Given the description of an element on the screen output the (x, y) to click on. 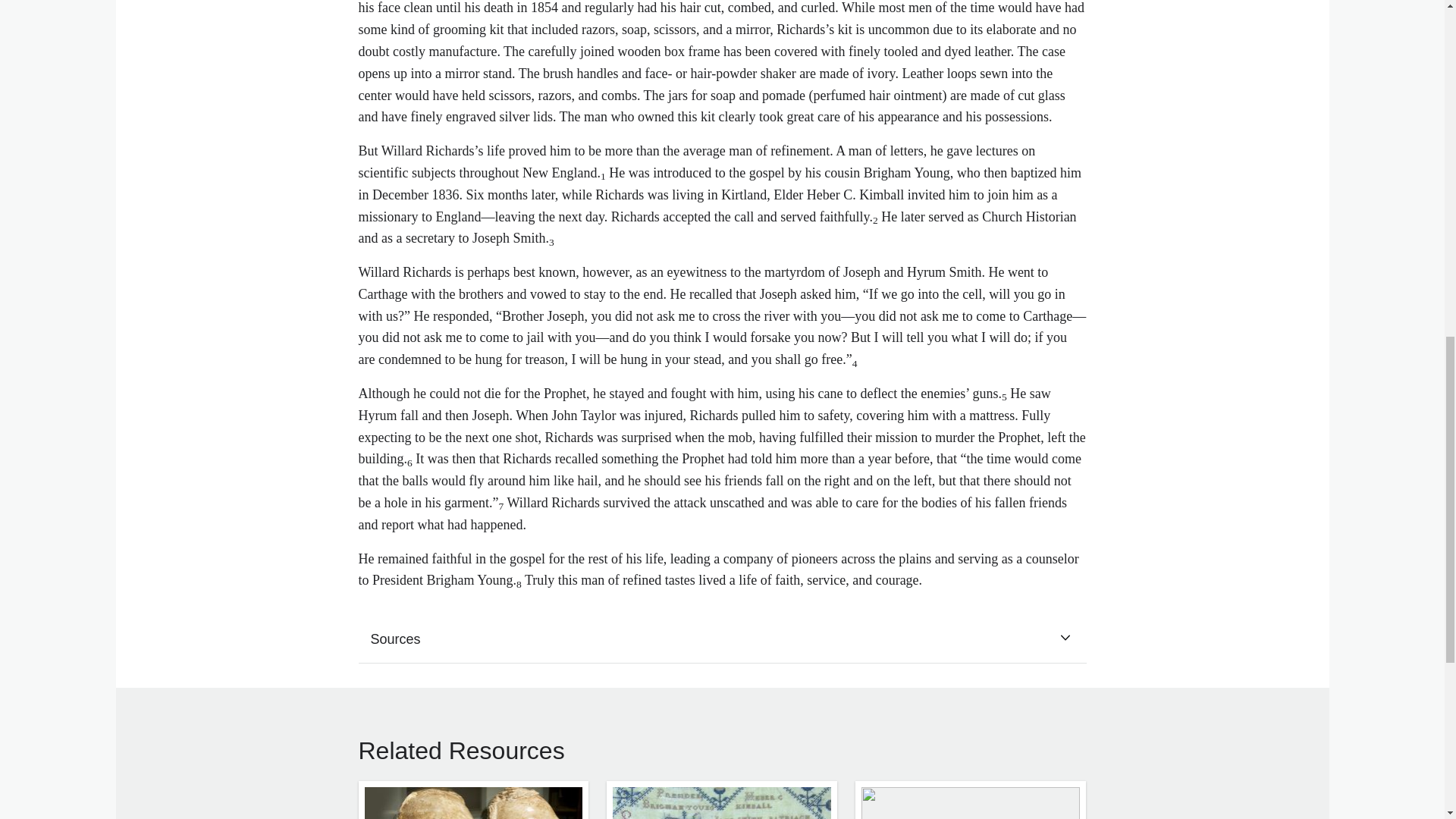
Sources (721, 638)
